Given the description of an element on the screen output the (x, y) to click on. 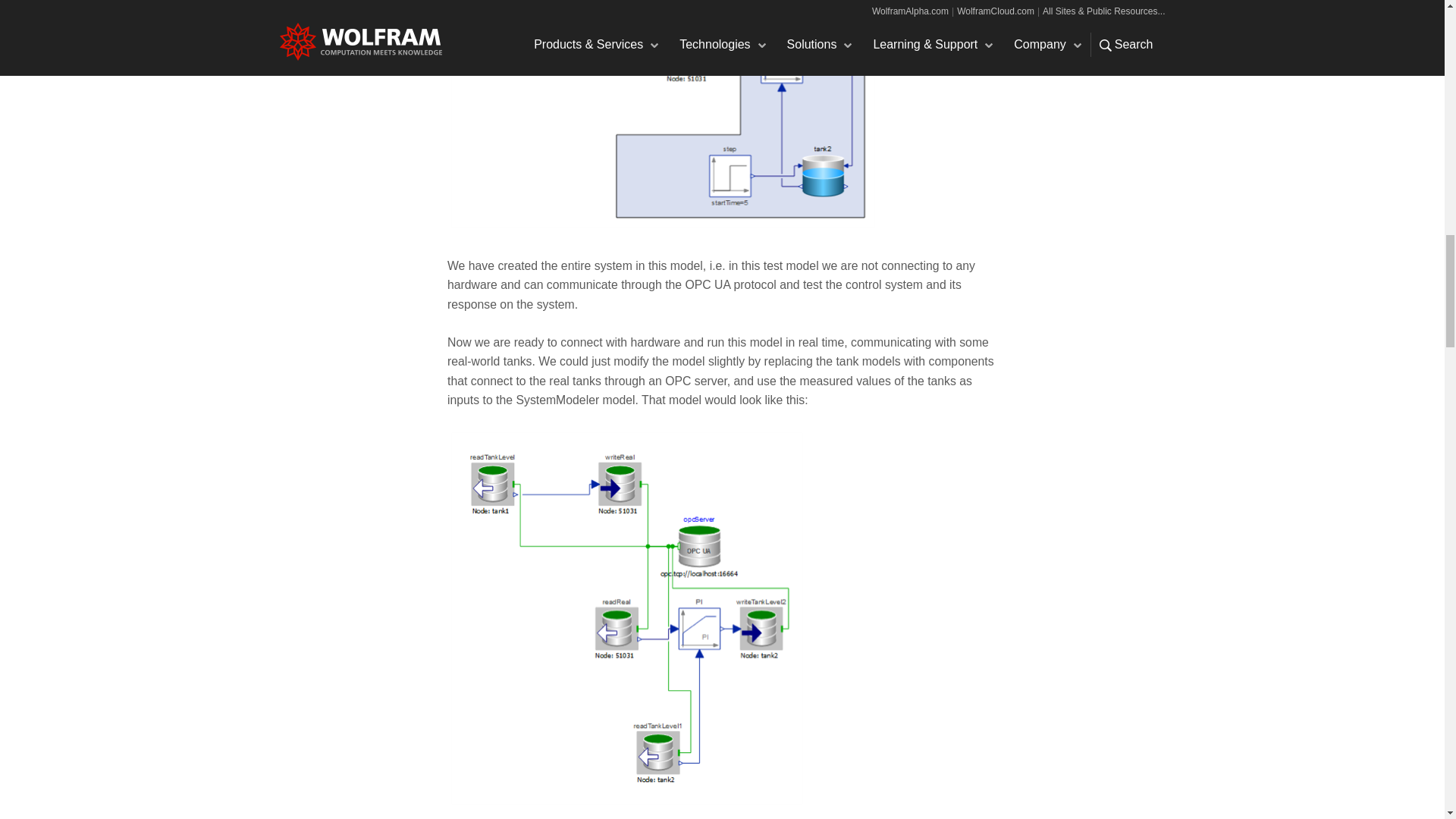
SystemModeler OPCUA tank model (662, 115)
